Given the description of an element on the screen output the (x, y) to click on. 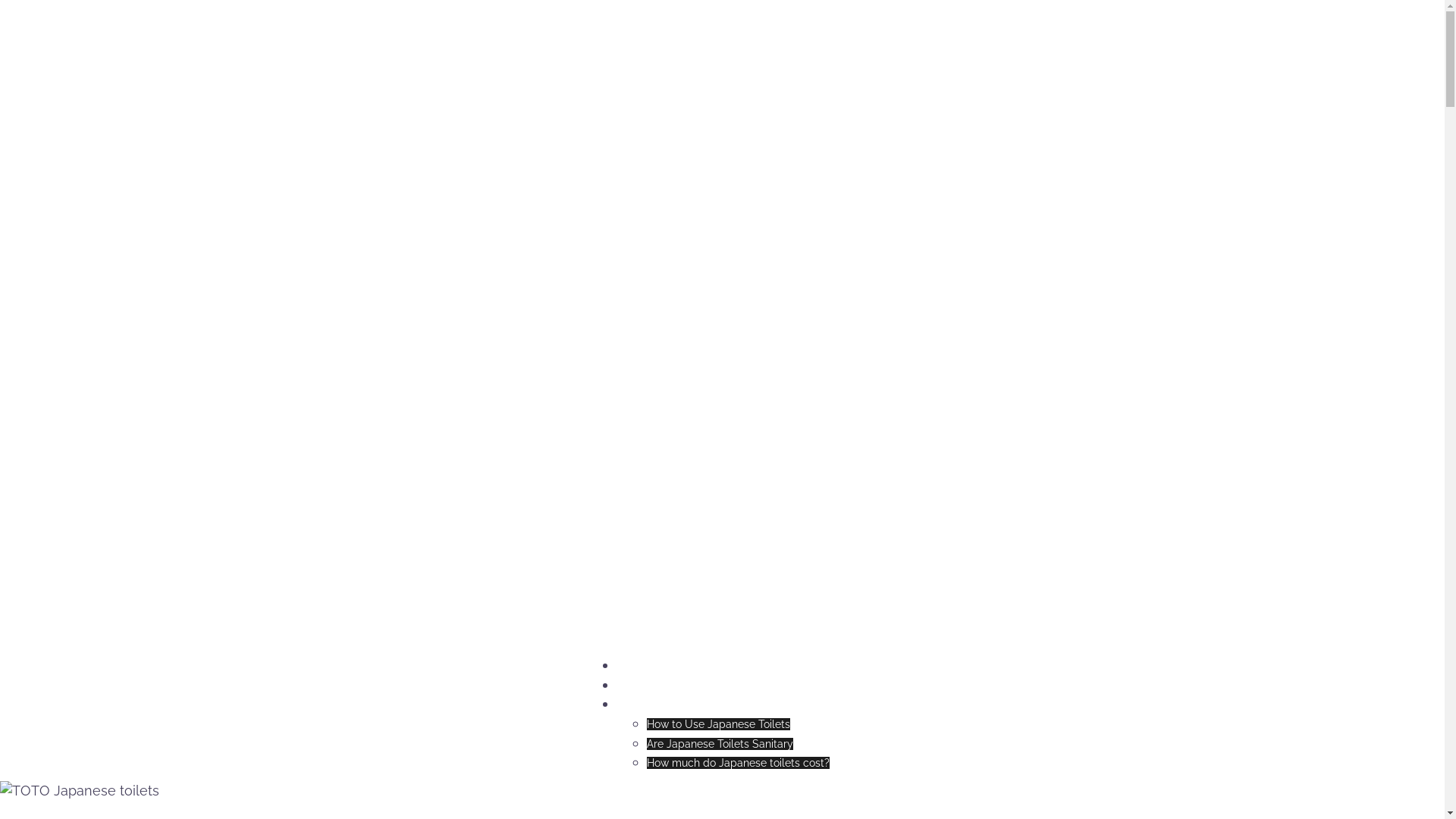
Japanese Toilets Element type: text (656, 665)
Japanese Toilets Element type: text (391, 28)
Japanese Toilet Seats Element type: text (669, 685)
Questions Element type: text (639, 704)
Are Japanese Toilets Sanitary Element type: text (719, 743)
How to Use Japanese Toilets Element type: text (717, 724)
How much do Japanese toilets cost? Element type: text (737, 762)
